Given the description of an element on the screen output the (x, y) to click on. 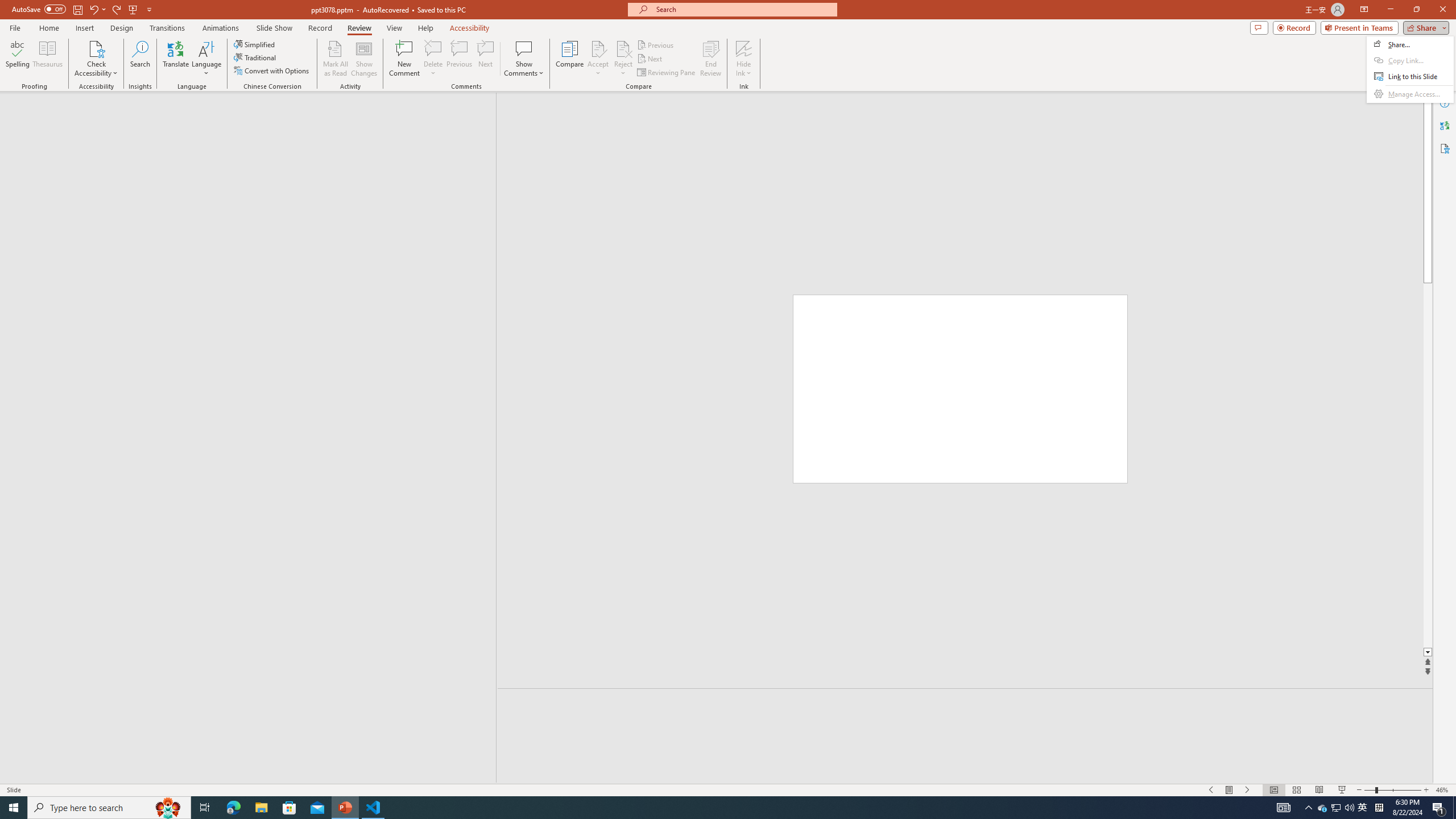
Restore Down (1416, 9)
Next (649, 58)
Check Accessibility (95, 48)
Search highlights icon opens search home window (167, 807)
Show desktop (1454, 807)
PowerPoint - 1 running window (345, 807)
Hide Ink (743, 48)
Menu On (1229, 790)
Zoom 46% (1443, 790)
